Given the description of an element on the screen output the (x, y) to click on. 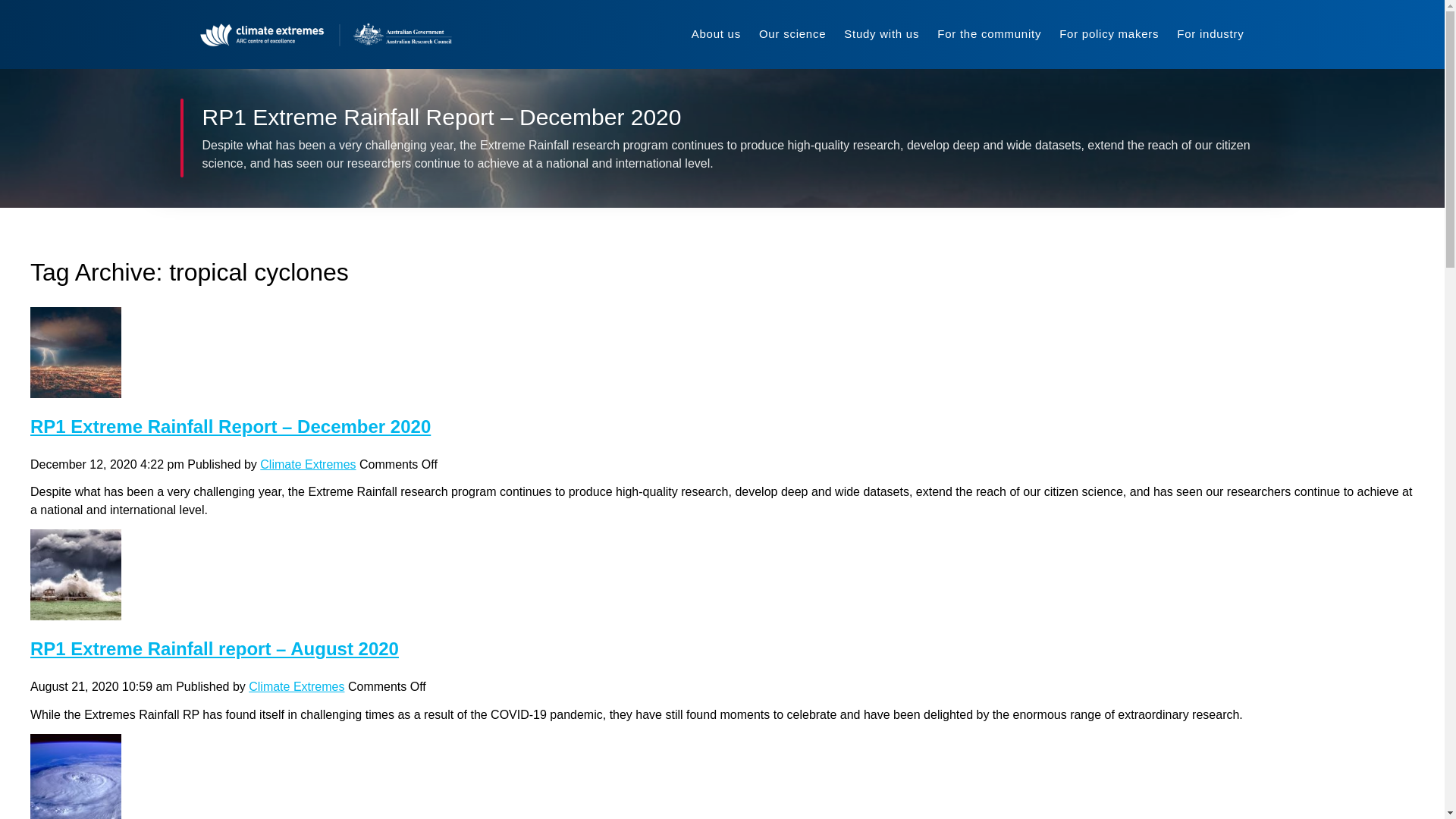
Posts by Climate Extremes (307, 463)
About us (715, 34)
Our science (791, 34)
Posts by Climate Extremes (295, 686)
